Given the description of an element on the screen output the (x, y) to click on. 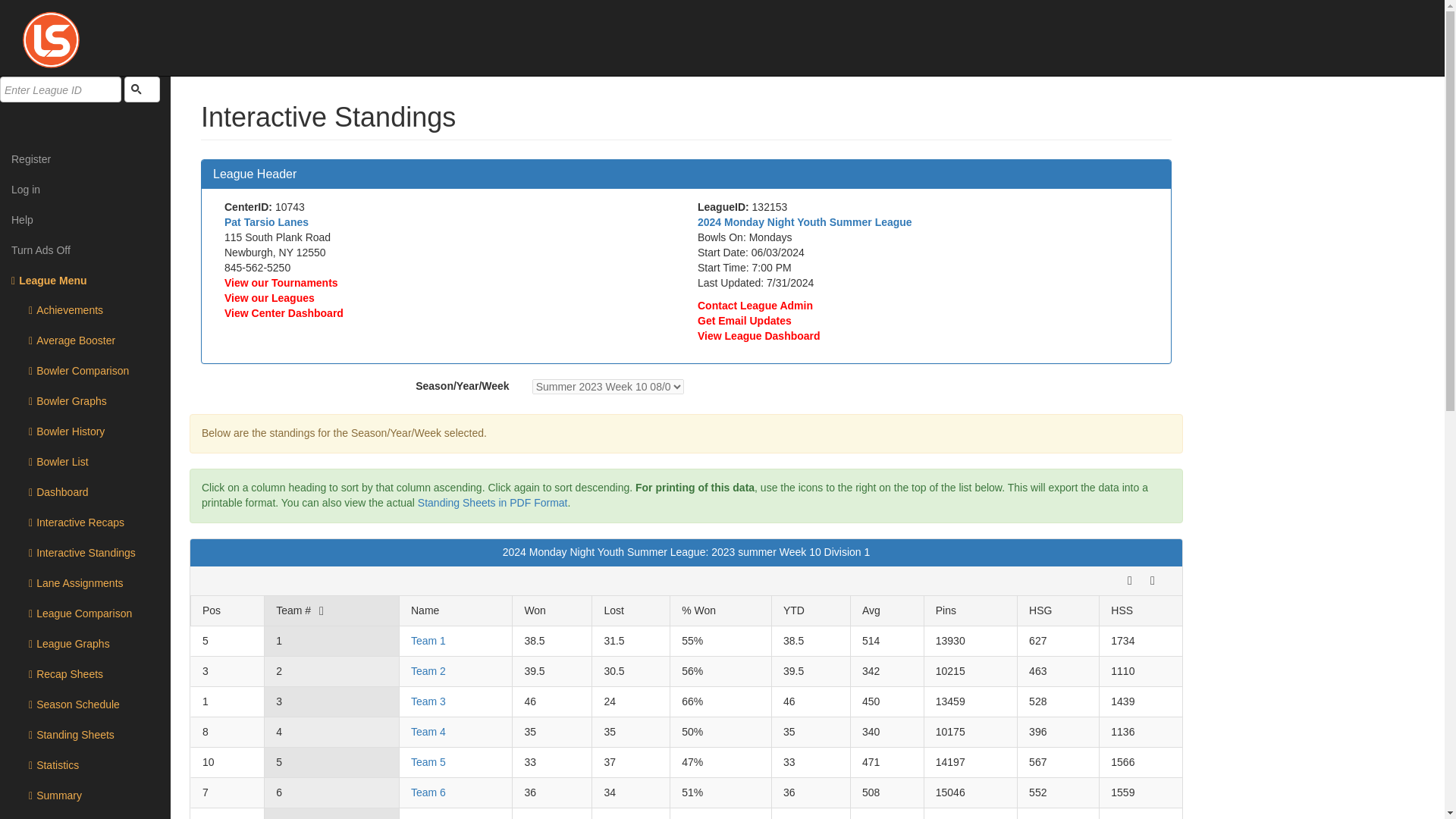
Season Schedule (85, 705)
Turn Ads Off (85, 250)
Click here to sort (613, 610)
League Comparison (85, 613)
Average Booster (85, 340)
Turn Ads Off (85, 250)
Enter League ID (60, 89)
Bowler List (85, 462)
League Menu (85, 280)
View Center Dashboard (283, 313)
